Given the description of an element on the screen output the (x, y) to click on. 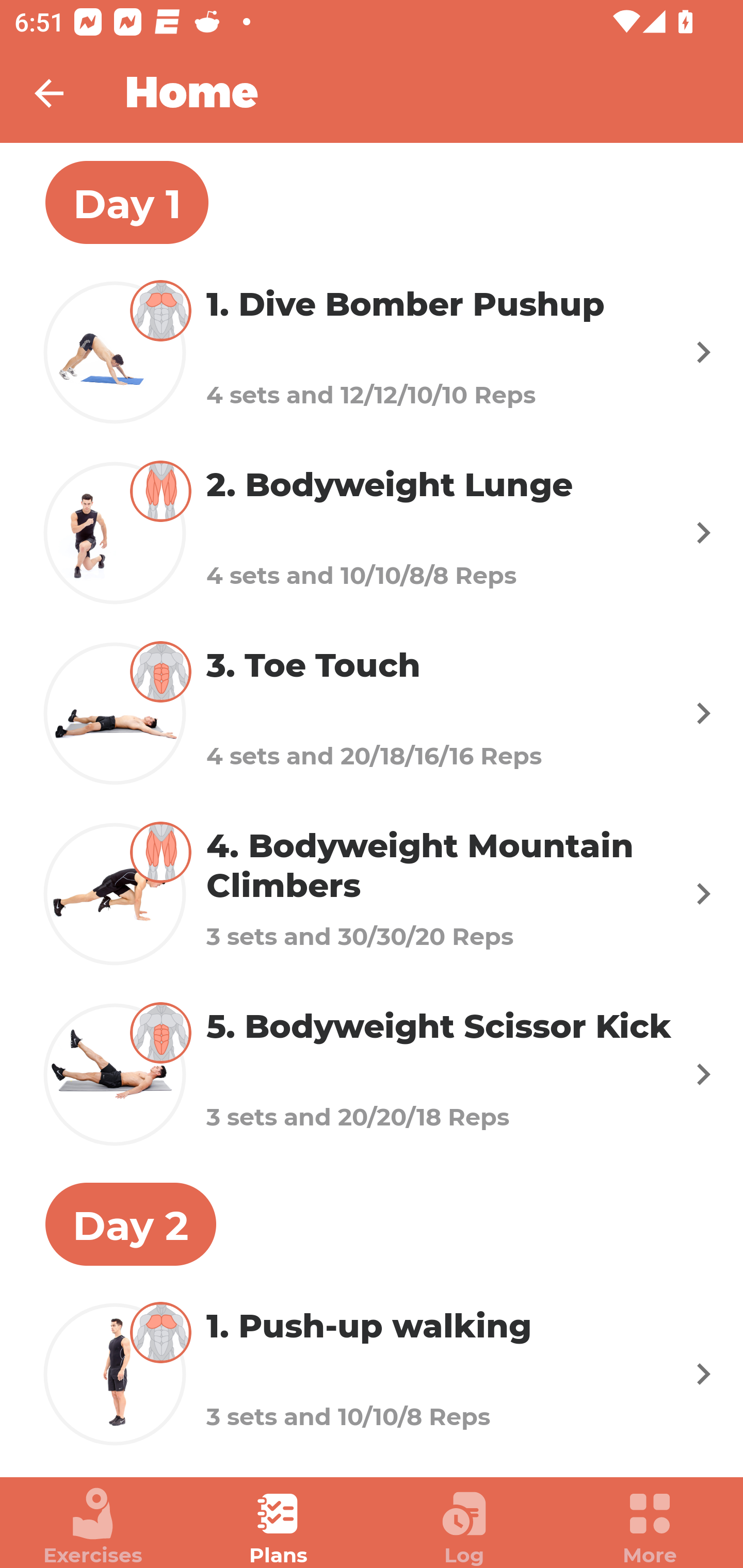
Back (62, 92)
1. Dive Bomber Pushup 4 sets and 12/12/10/10 Reps (371, 351)
2. Bodyweight Lunge 4 sets and 10/10/8/8 Reps (371, 532)
3. Toe Touch 4 sets and 20/18/16/16 Reps (371, 712)
1. Push-up walking 3 sets and 10/10/8 Reps (371, 1374)
Exercises (92, 1527)
Plans (278, 1527)
Log (464, 1527)
More (650, 1527)
